Given the description of an element on the screen output the (x, y) to click on. 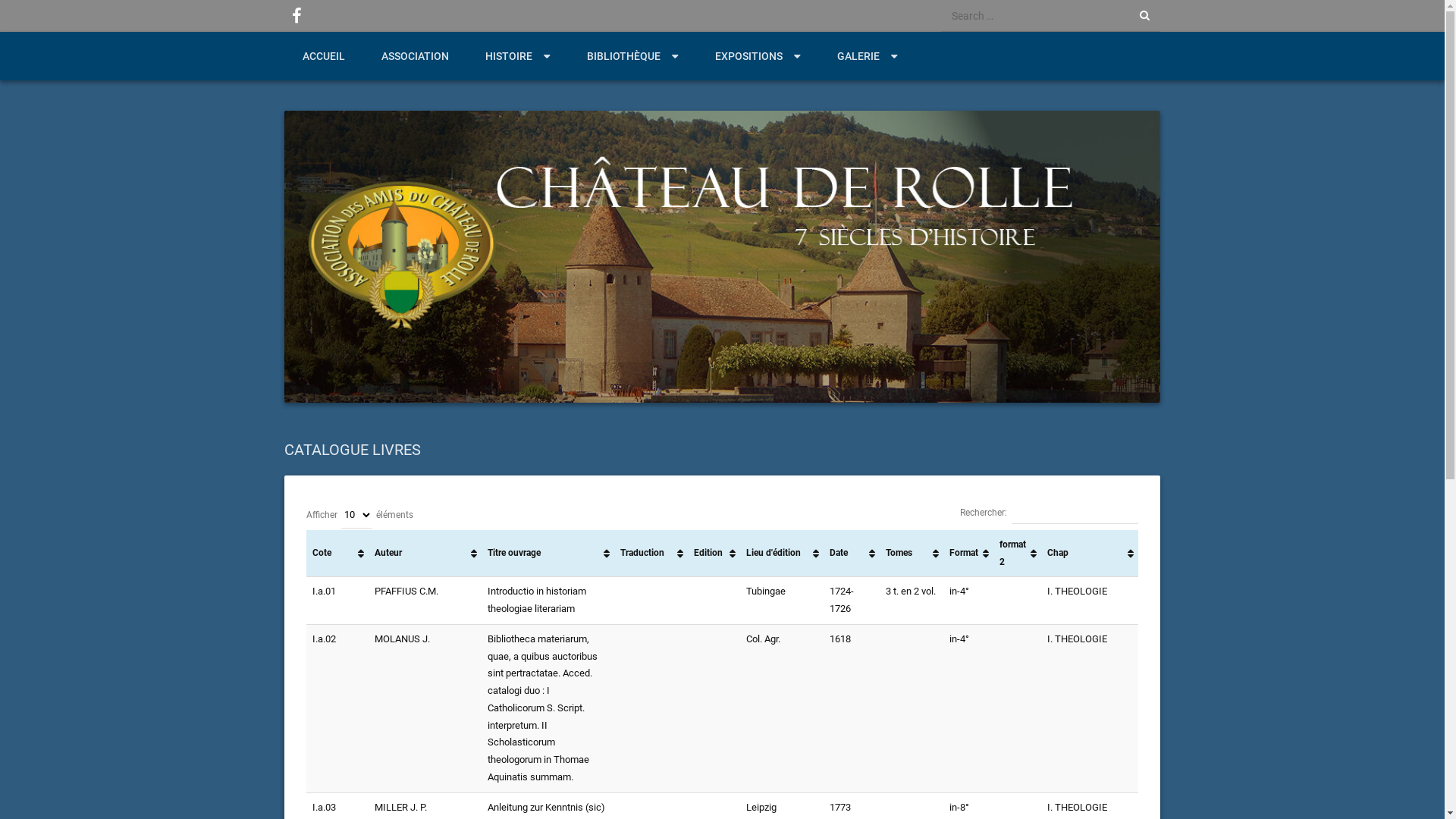
ASSOCIATION Element type: text (415, 55)
ACCUEIL Element type: text (323, 55)
Search Element type: text (32, 13)
HISTOIRE Element type: text (517, 55)
EXPOSITIONS Element type: text (757, 55)
GALERIE Element type: text (867, 55)
